Given the description of an element on the screen output the (x, y) to click on. 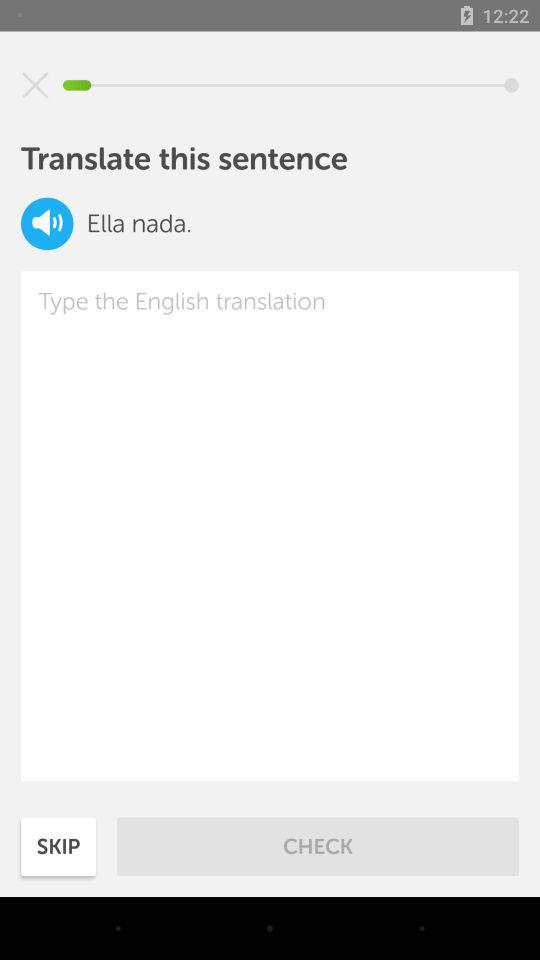
toggle speaker option (47, 223)
